Given the description of an element on the screen output the (x, y) to click on. 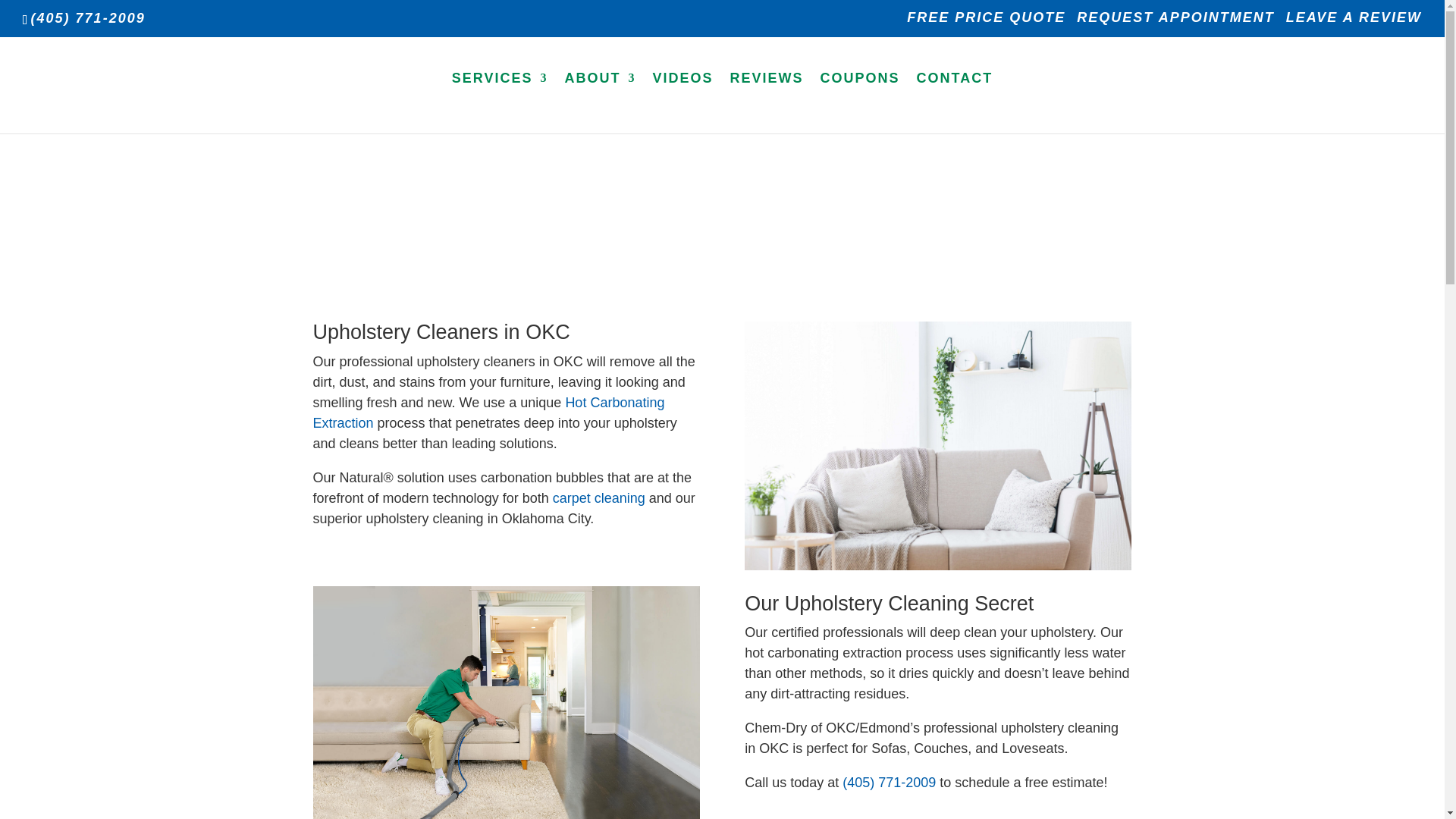
SERVICES (499, 102)
ABOUT (599, 102)
COUPONS (860, 102)
VIDEOS (682, 102)
Hot Carbonating Extraction (488, 412)
LEAVE A REVIEW (1353, 22)
Customer Reviews (766, 102)
FREE PRICE QUOTE (986, 22)
REVIEWS (766, 102)
Carpet Cleaning Coupons (860, 102)
Contact Us (954, 102)
carpet cleaning (599, 498)
REQUEST APPOINTMENT (1175, 22)
CONTACT (954, 102)
